Given the description of an element on the screen output the (x, y) to click on. 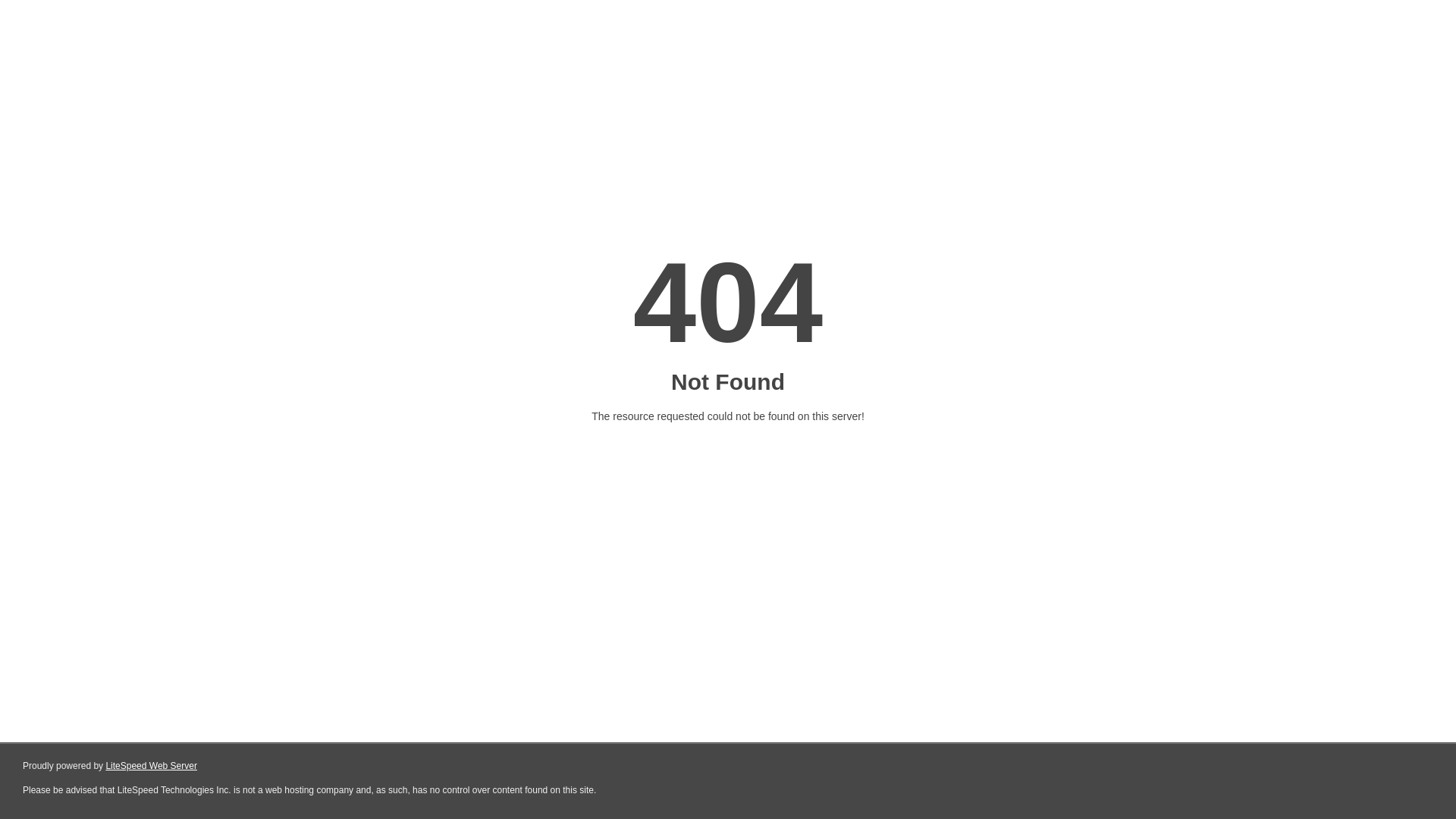
LiteSpeed Web Server Element type: text (151, 765)
